Given the description of an element on the screen output the (x, y) to click on. 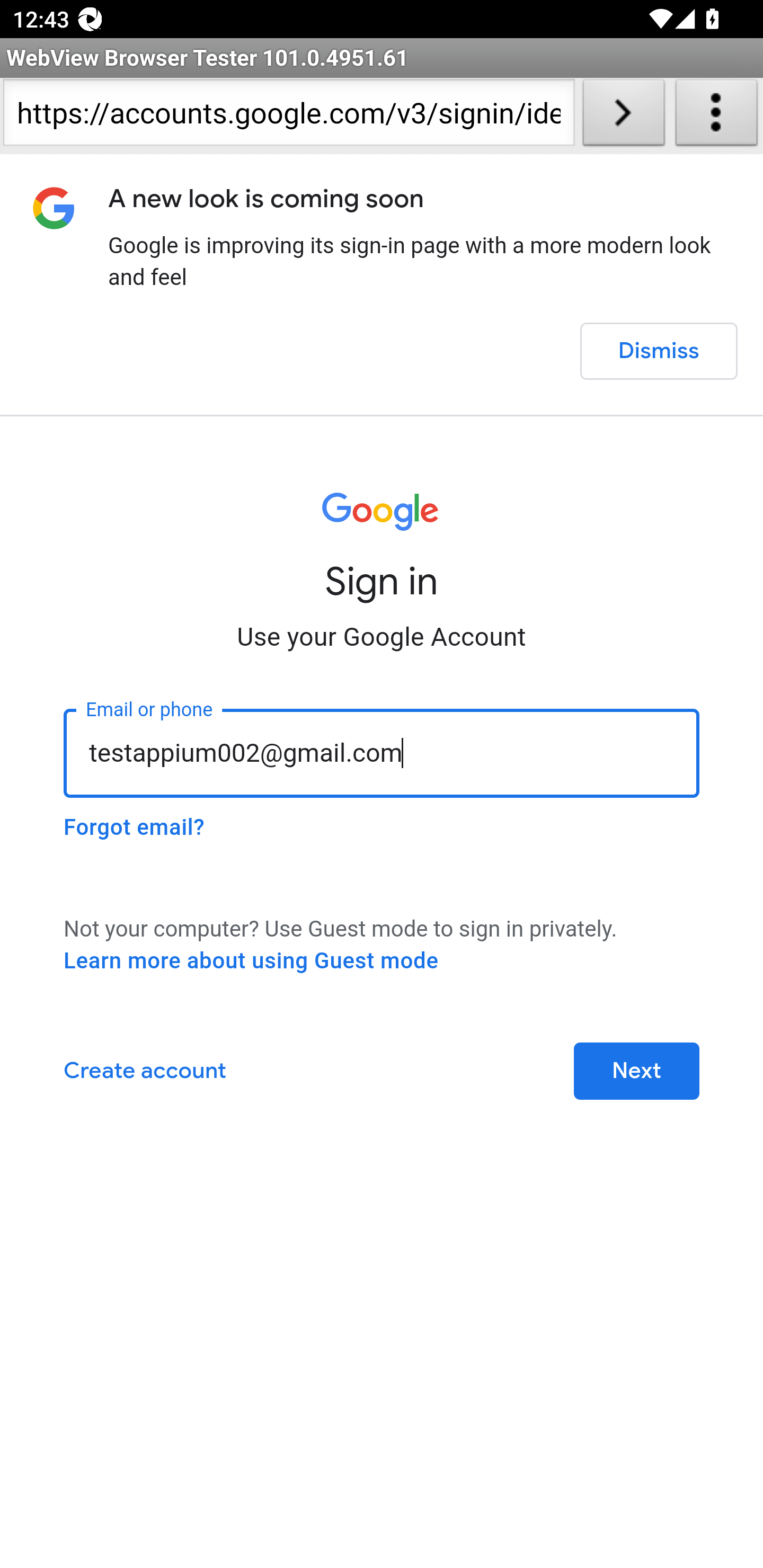
Load URL (623, 115)
About WebView (716, 115)
Dismiss (657, 351)
testappium002@gmail.com (381, 752)
Forgot email? (133, 826)
Learn more about using Guest mode (250, 959)
Create account (145, 1070)
Next (635, 1070)
